Given the description of an element on the screen output the (x, y) to click on. 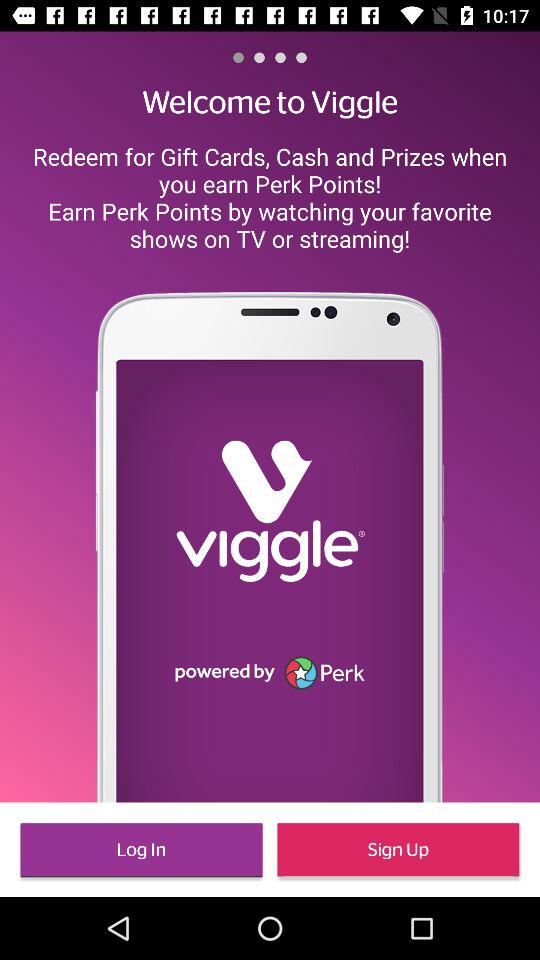
click icon to the left of sign up item (141, 849)
